Given the description of an element on the screen output the (x, y) to click on. 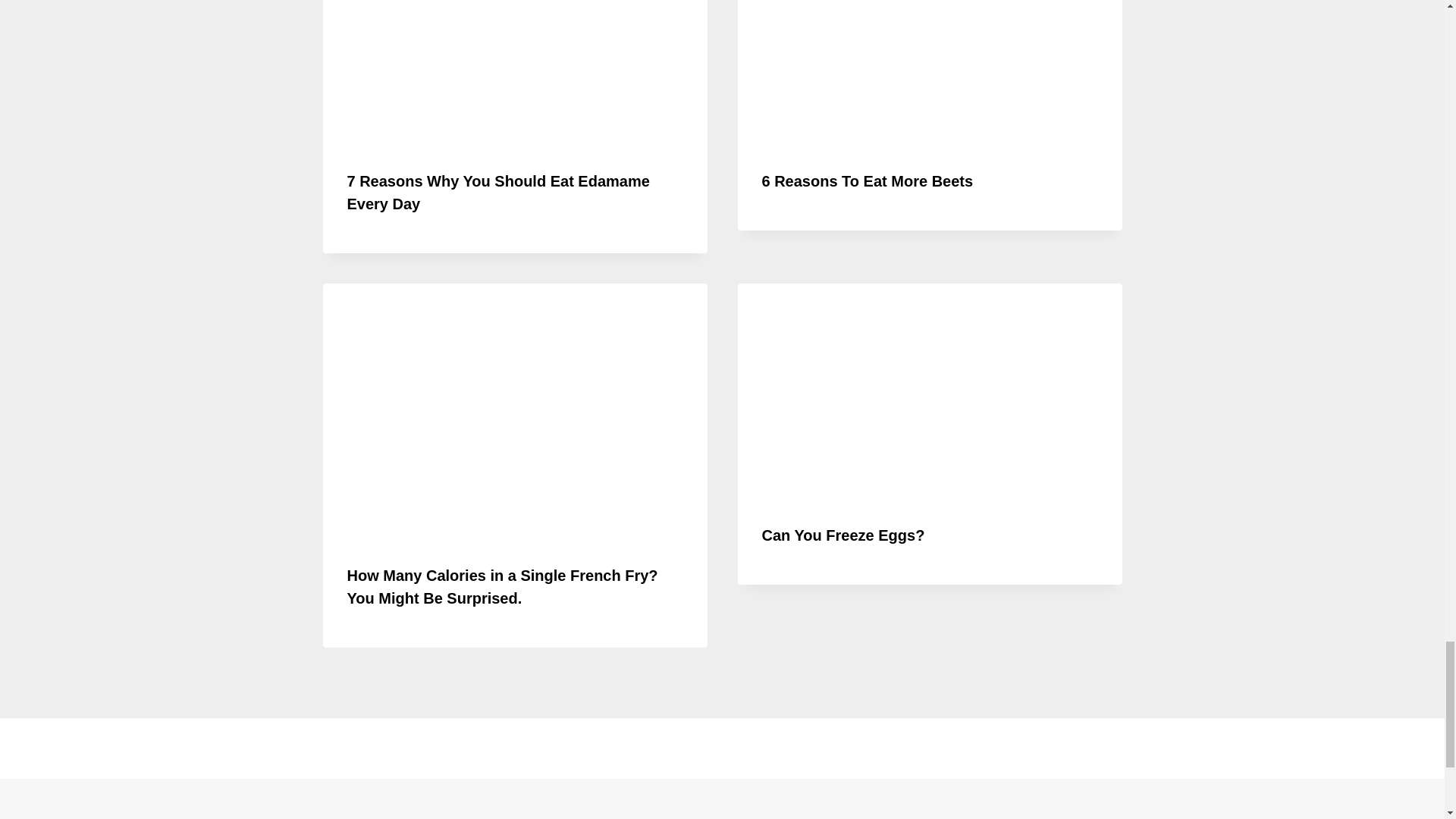
Can You Freeze Eggs? (842, 535)
6 Reasons To Eat More Beets (866, 180)
7 Reasons Why You Should Eat Edamame Every Day (498, 192)
